Given the description of an element on the screen output the (x, y) to click on. 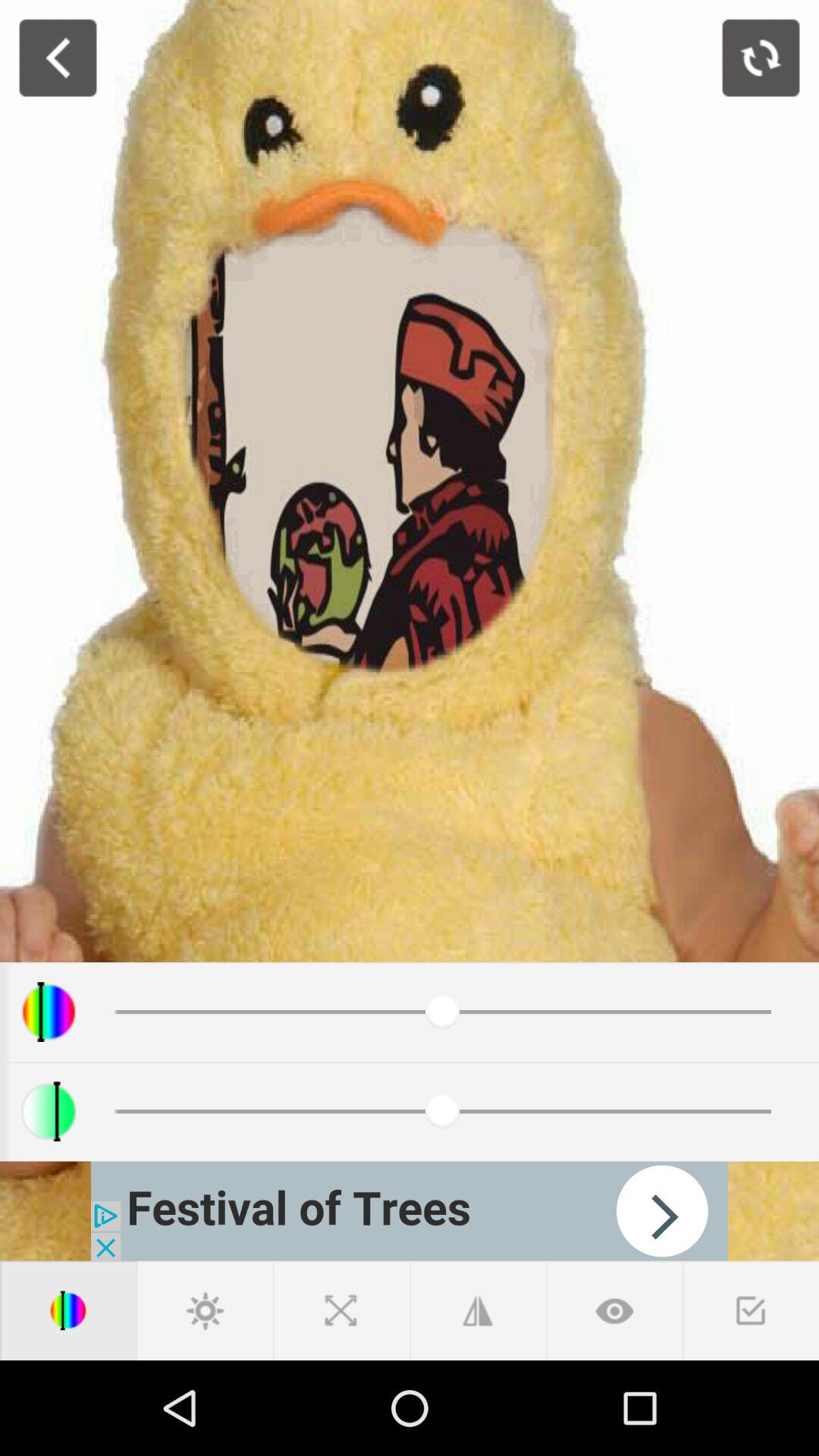
change angle (477, 1310)
